Given the description of an element on the screen output the (x, y) to click on. 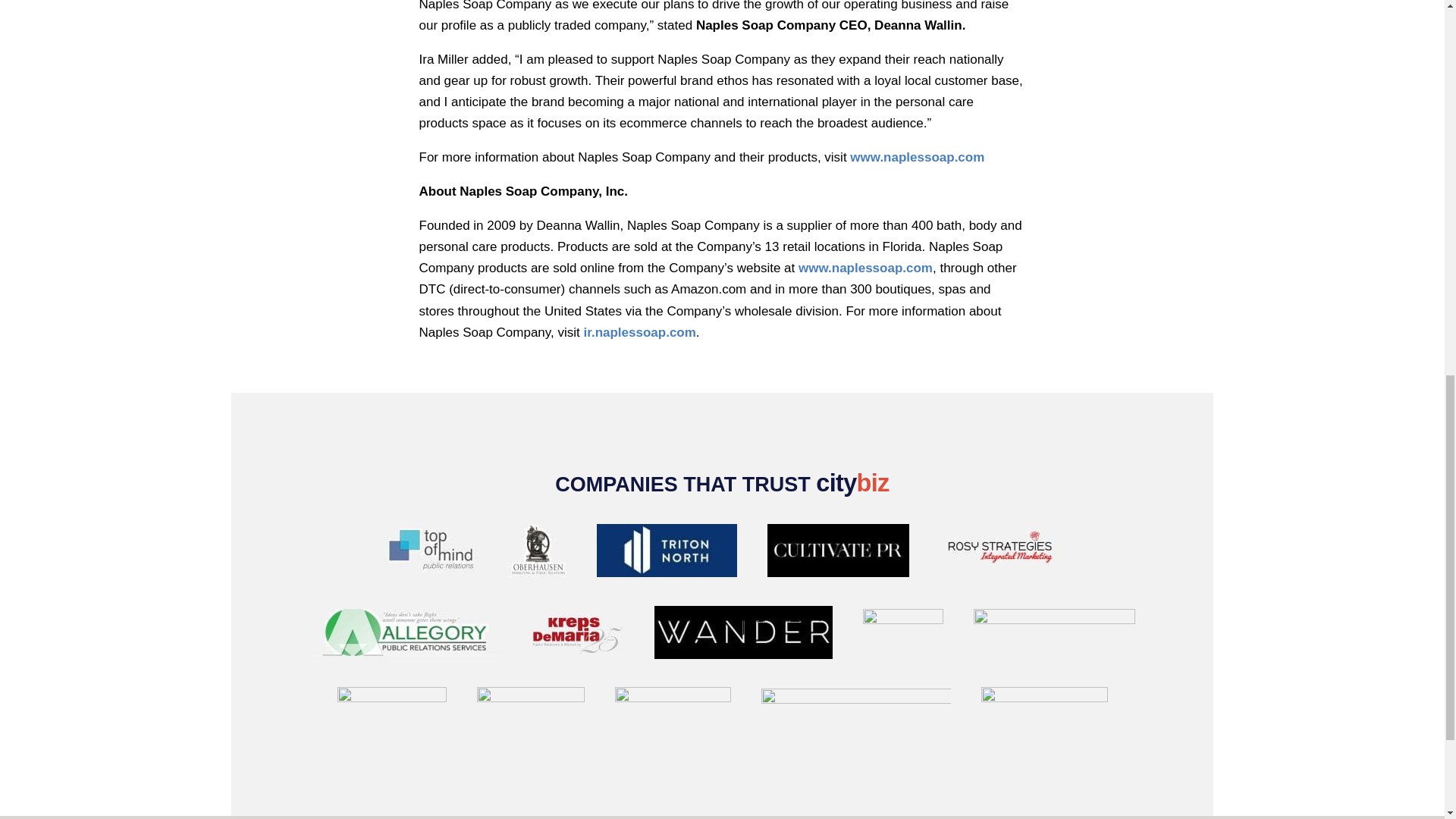
Cultivate PR (838, 553)
Top of Mind PR (431, 553)
Wander PR (742, 635)
LEFT Communication (903, 635)
Allegory PR Services (403, 635)
Rosy Strategies (999, 553)
Triton North (665, 553)
